Given the description of an element on the screen output the (x, y) to click on. 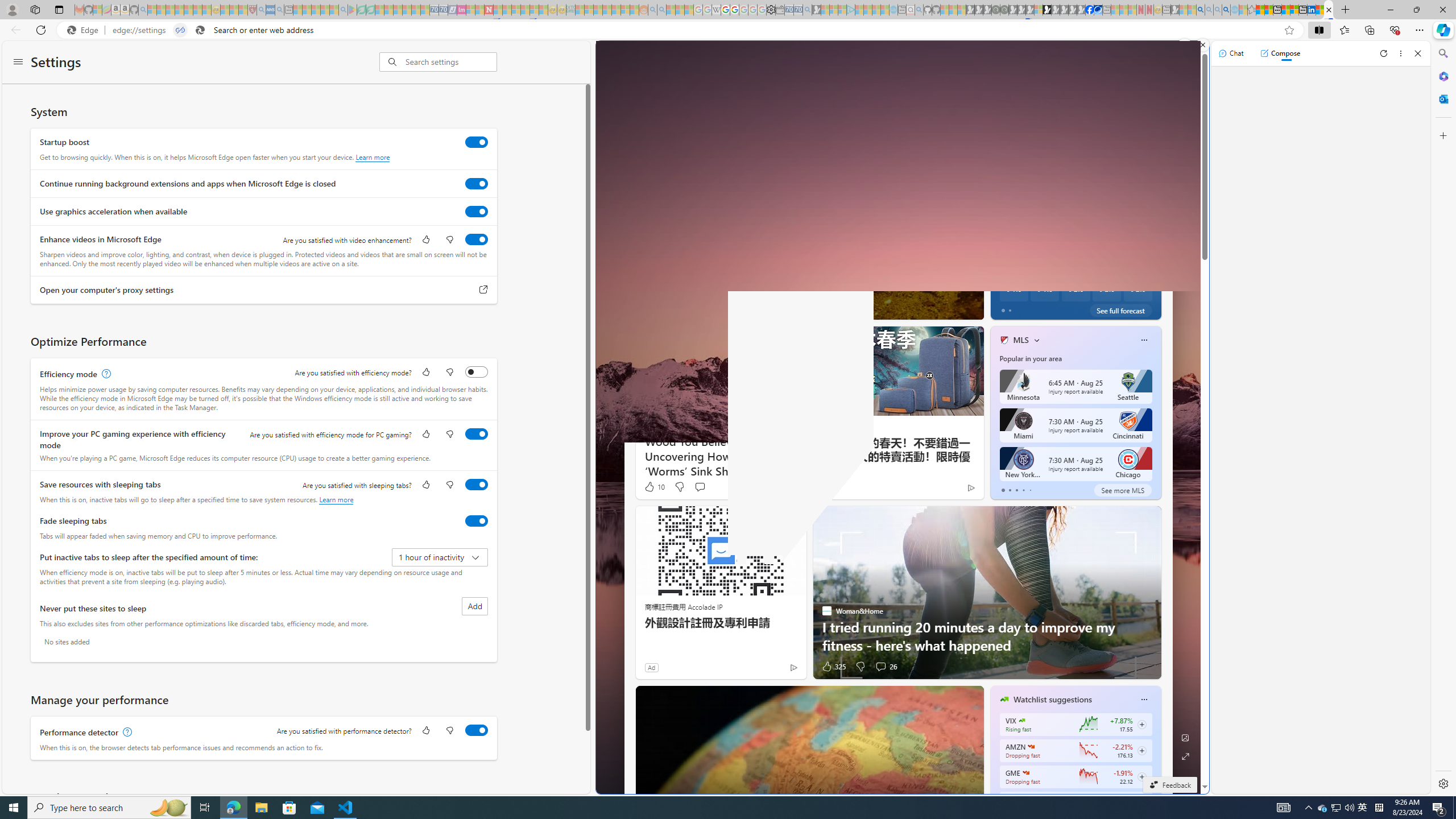
AutomationID: tab-26 (835, 308)
Enhance videos in Microsoft Edge (476, 238)
Partly sunny (1011, 189)
See full forecast (1120, 310)
AutomationID: tab-23 (821, 308)
Nordace | Facebook (1089, 9)
